Given the description of an element on the screen output the (x, y) to click on. 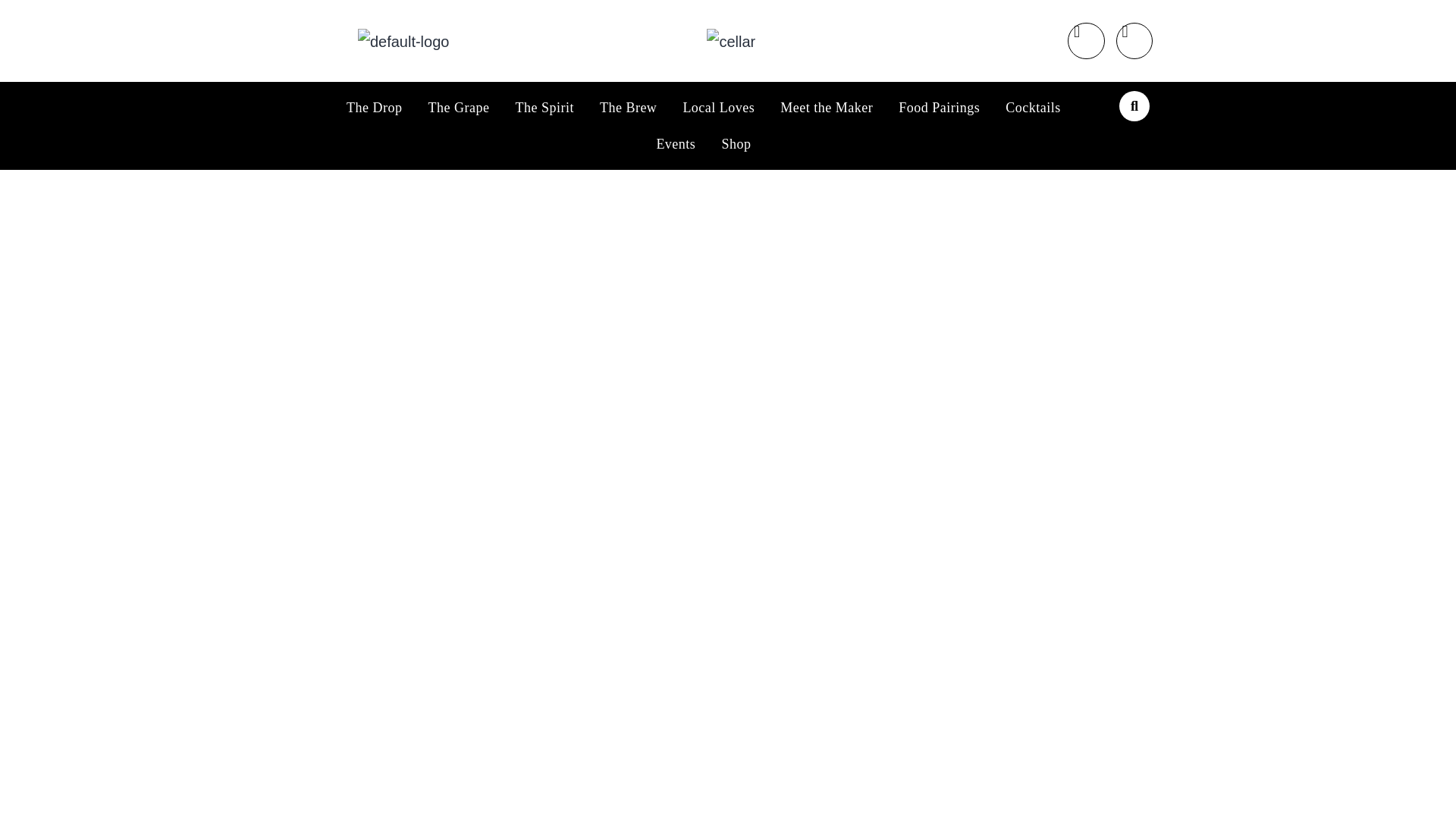
Events (675, 144)
The Brew (627, 107)
Local Loves (718, 107)
Meet the Maker (826, 107)
The Drop (373, 107)
Food Pairings (938, 107)
The Grape (458, 107)
The Spirit (544, 107)
Cocktails (1033, 107)
Shop (734, 144)
